Given the description of an element on the screen output the (x, y) to click on. 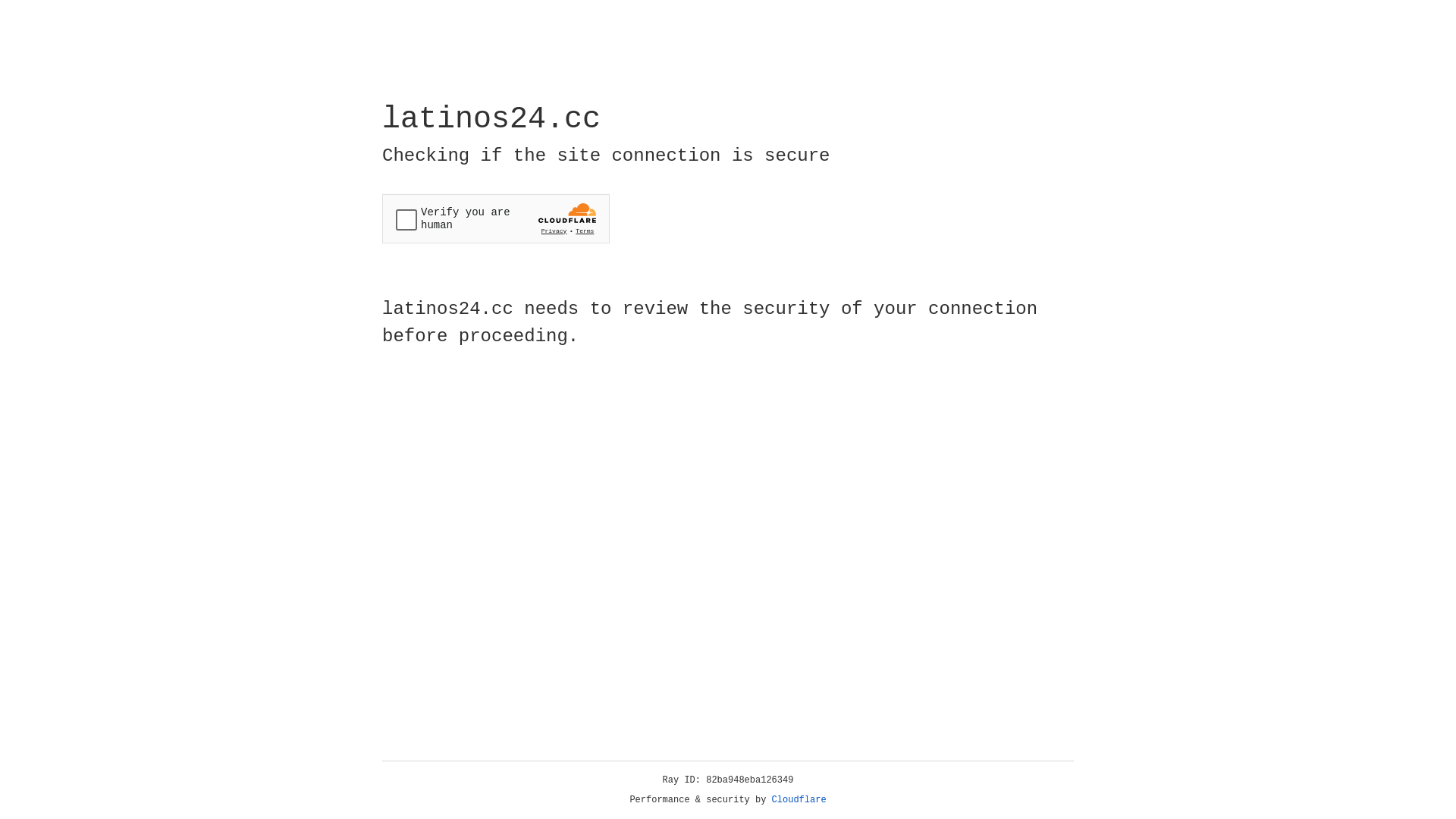
Widget containing a Cloudflare security challenge Element type: hover (495, 218)
Cloudflare Element type: text (798, 799)
